Given the description of an element on the screen output the (x, y) to click on. 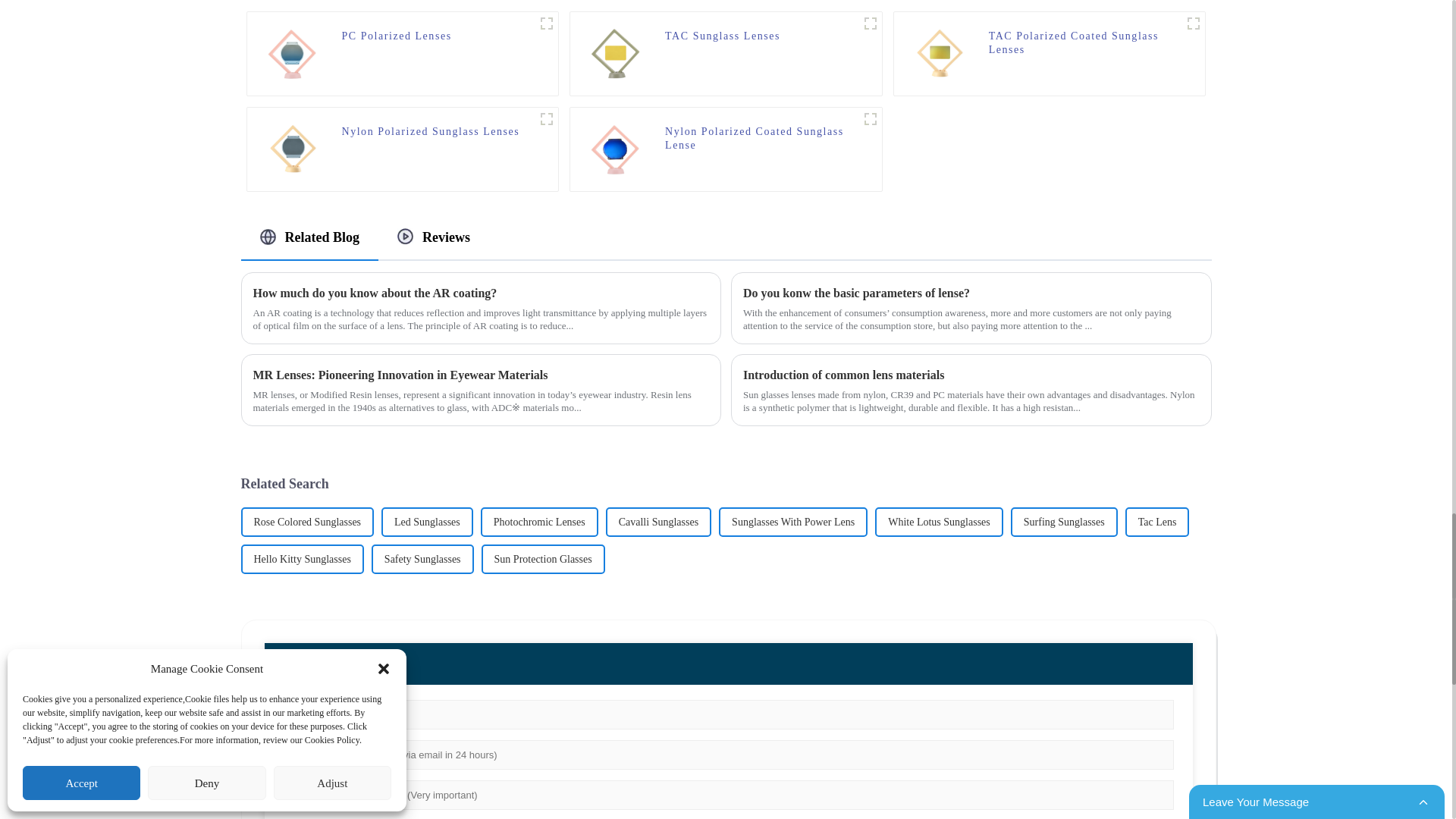
PC Polarized Lenses (395, 42)
